Given the description of an element on the screen output the (x, y) to click on. 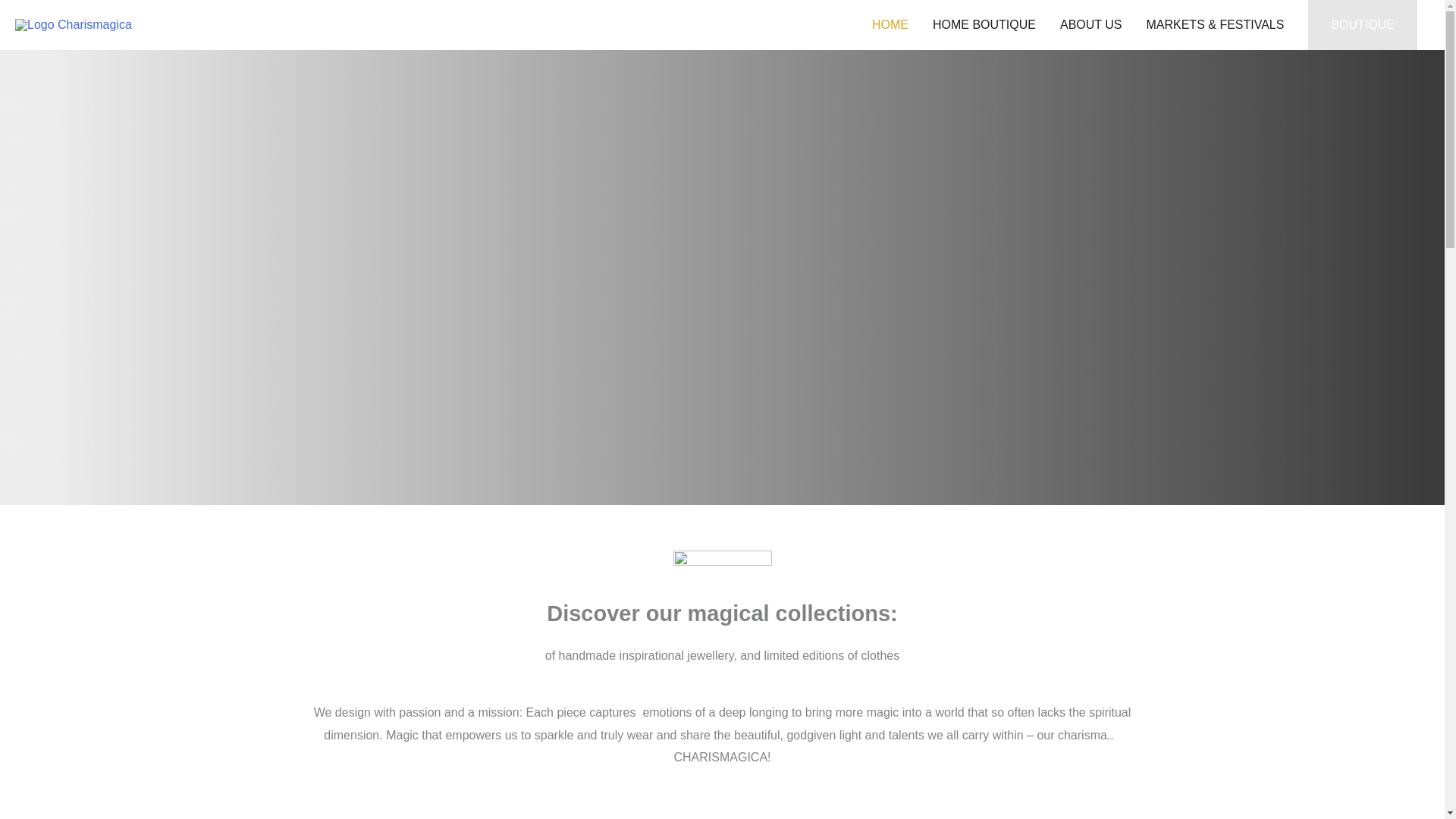
BOUTIQUE (1361, 24)
ABOUT US (1091, 24)
HOME BOUTIQUE (984, 24)
HOME (890, 24)
